Given the description of an element on the screen output the (x, y) to click on. 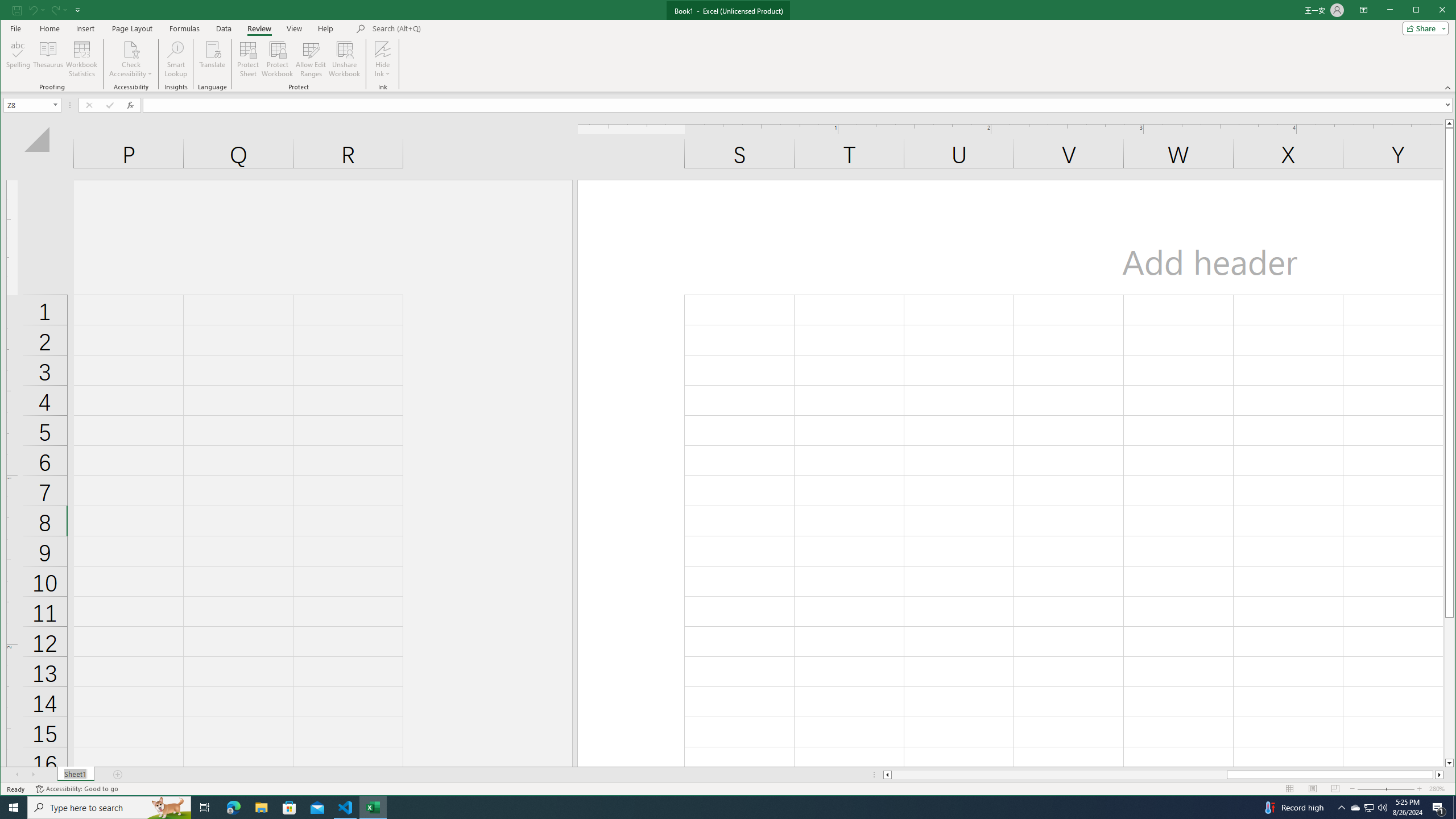
Excel - 1 running window (373, 807)
Microsoft Store (289, 807)
Protect Sheet... (247, 59)
Action Center, 1 new notification (1439, 807)
Unshare Workbook (344, 59)
